Given the description of an element on the screen output the (x, y) to click on. 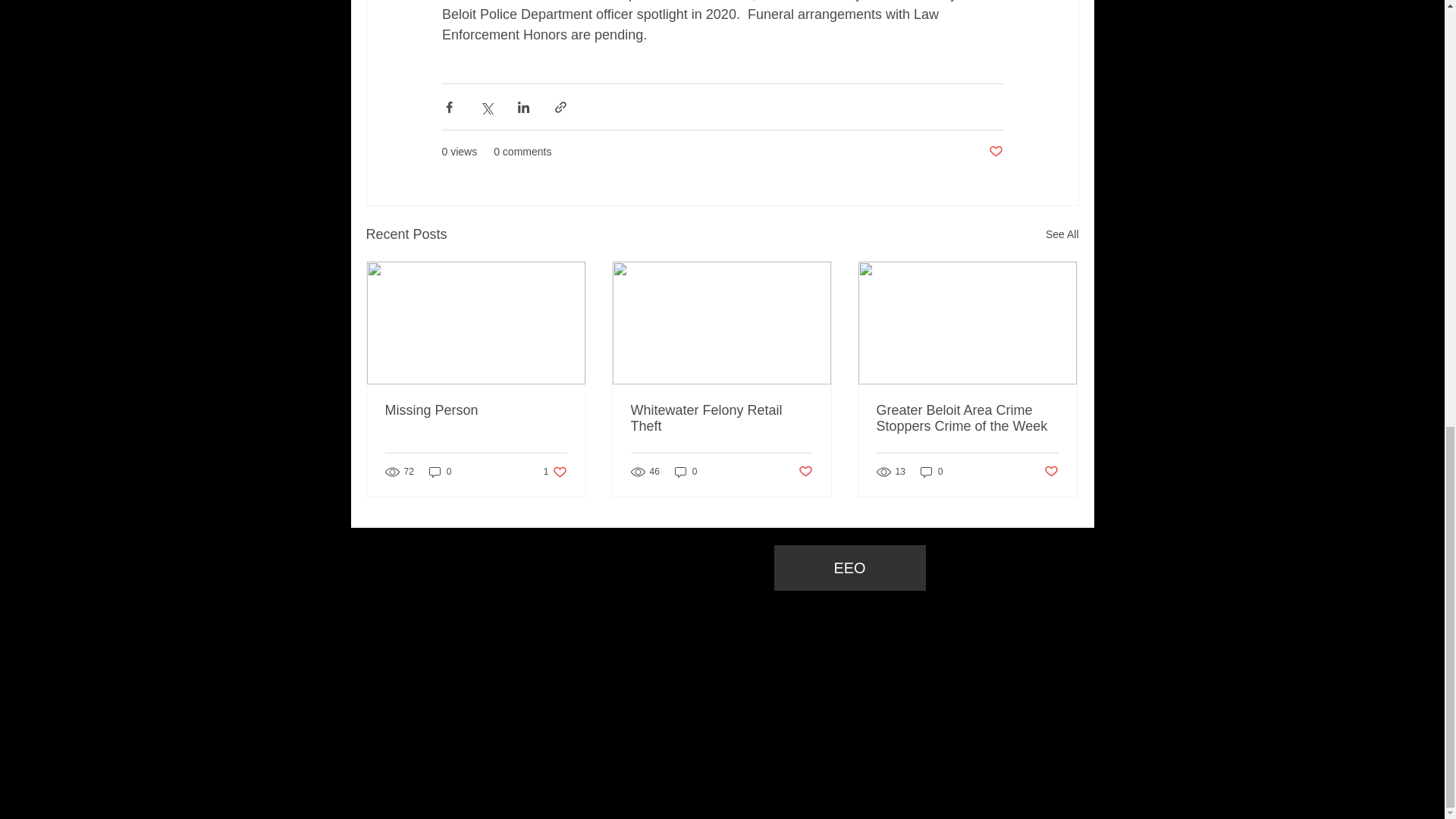
0 (440, 471)
Missing Person (476, 410)
Post not marked as liked (804, 471)
0 (685, 471)
Whitewater Felony Retail Theft (721, 418)
0 (931, 471)
See All (1061, 234)
Post not marked as liked (995, 151)
Greater Beloit Area Crime Stoppers Crime of the Week (967, 418)
